Given the description of an element on the screen output the (x, y) to click on. 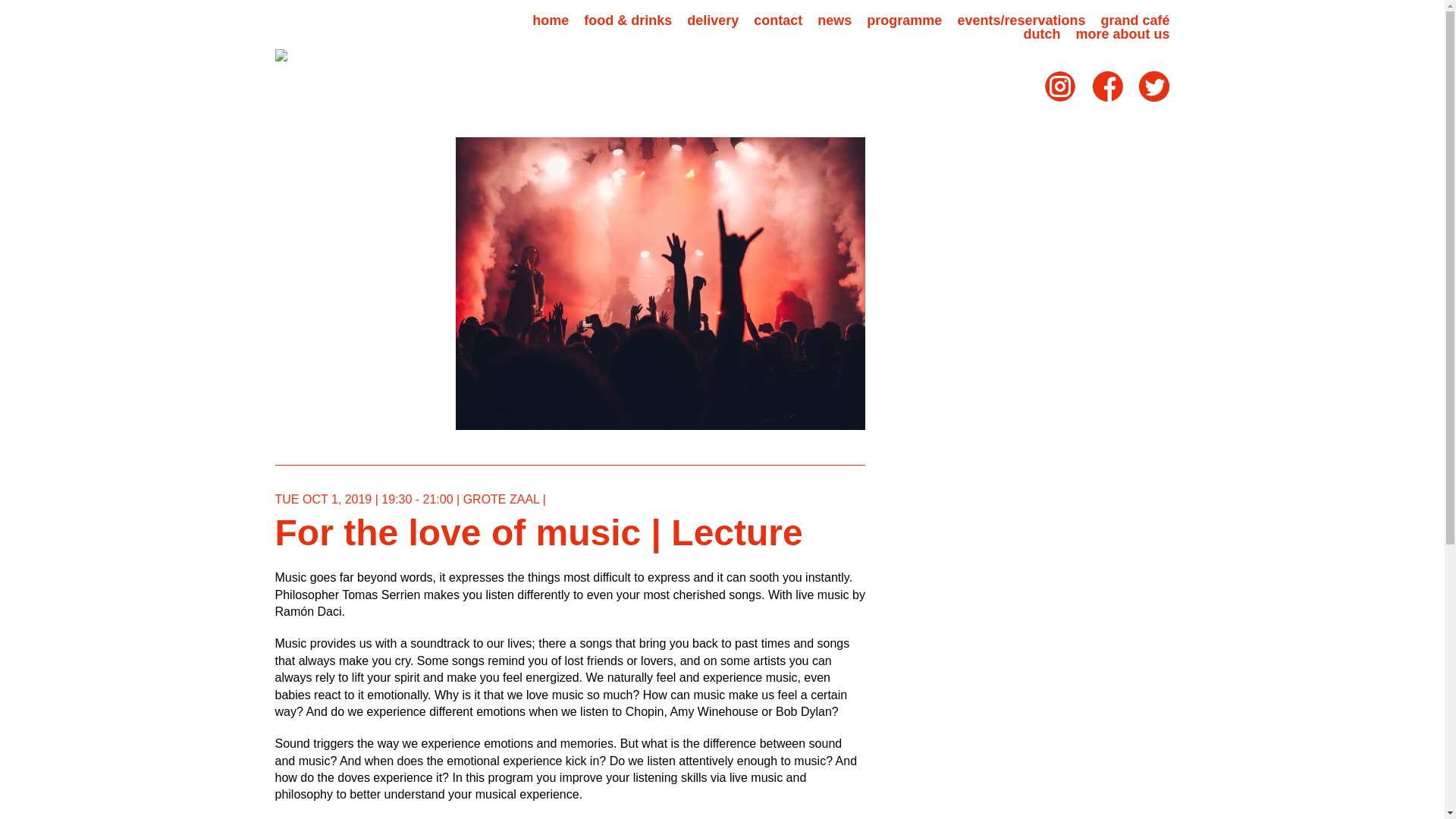
dutch (1041, 33)
contact (778, 20)
home (550, 20)
more about us (1122, 33)
news (833, 20)
delivery (712, 20)
programme (904, 20)
